Given the description of an element on the screen output the (x, y) to click on. 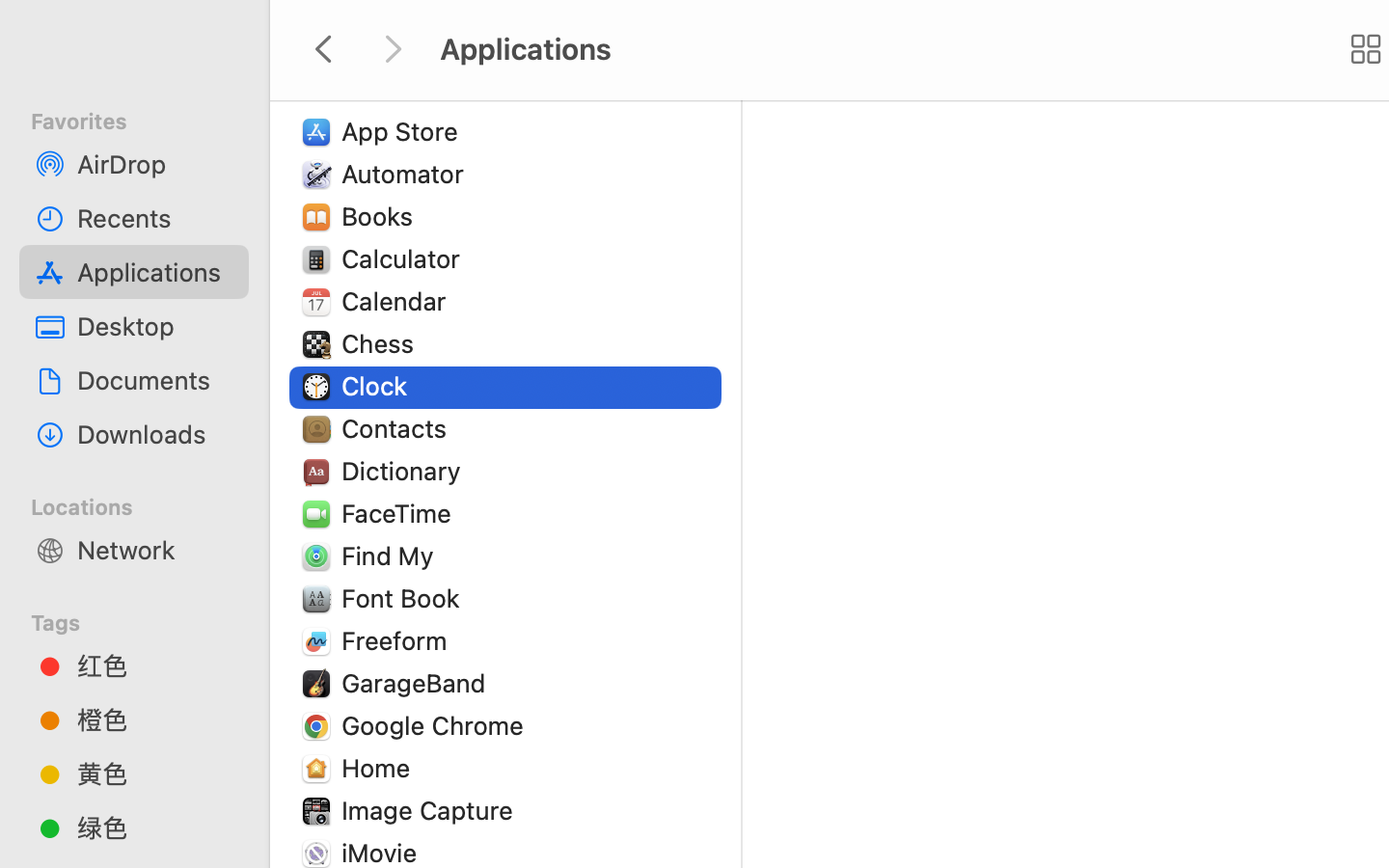
Clock Element type: AXTextField (378, 385)
绿色 Element type: AXStaticText (155, 827)
Desktop Element type: AXStaticText (155, 325)
Dictionary Element type: AXTextField (404, 470)
Books Element type: AXTextField (381, 215)
